Given the description of an element on the screen output the (x, y) to click on. 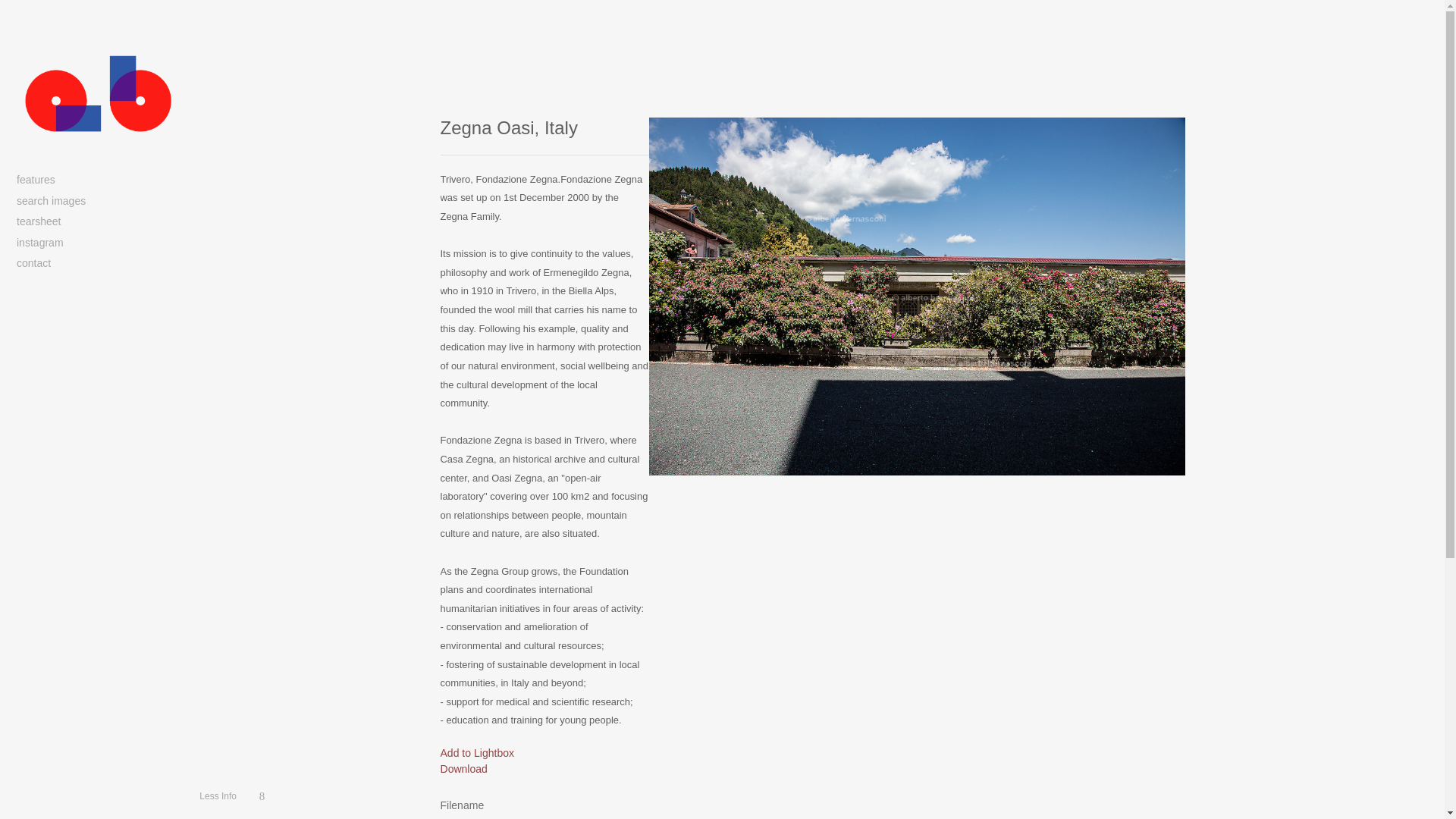
Download (462, 769)
Add to Lightbox (476, 753)
tearsheet (98, 222)
x (260, 796)
instagram (98, 243)
contact (98, 264)
features (98, 180)
Alberto Bernasconi (97, 93)
Alberto Bernasconi (97, 93)
Share This (260, 796)
search images (98, 201)
